Given the description of an element on the screen output the (x, y) to click on. 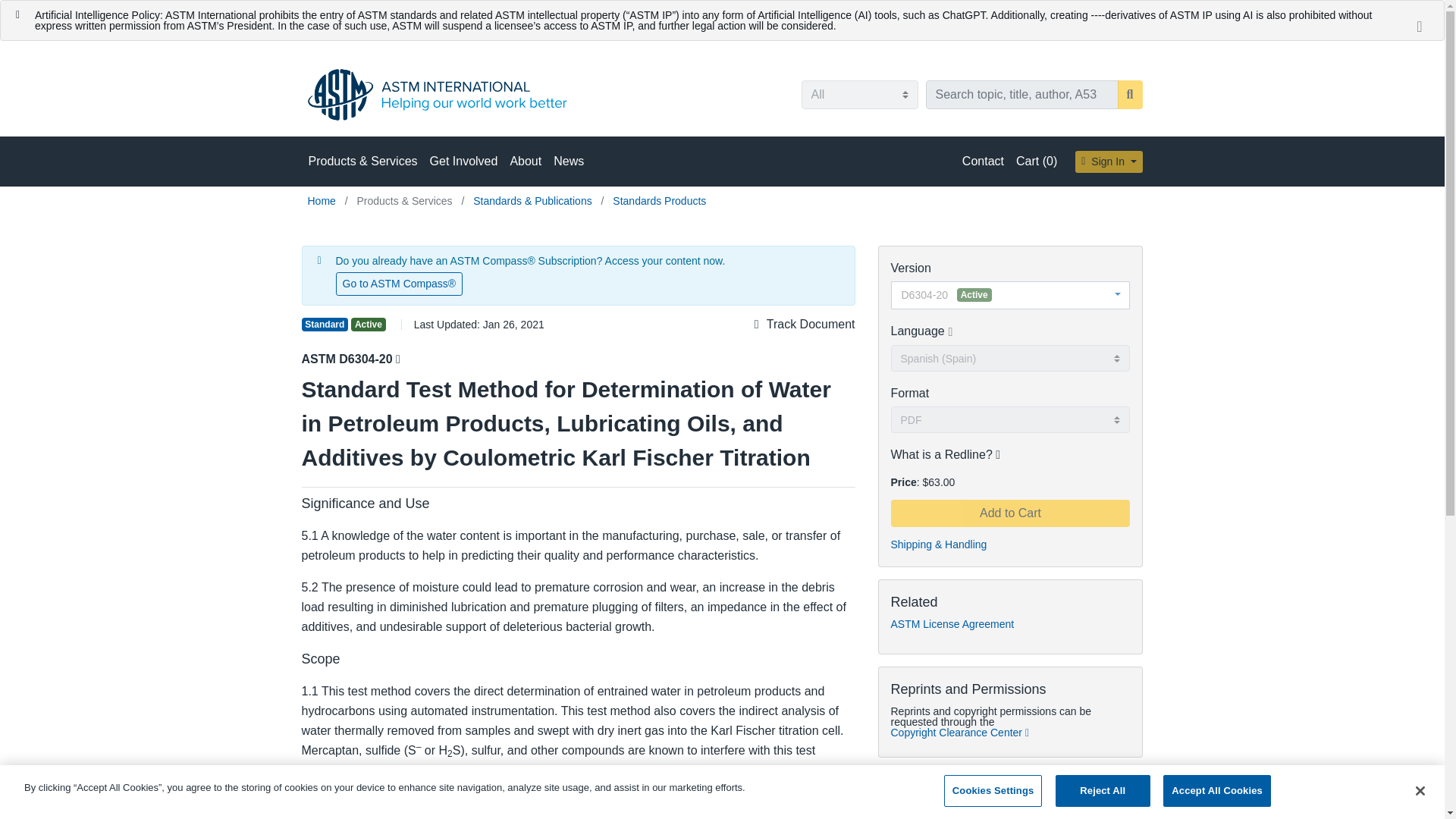
Go to Home Page (323, 200)
All (858, 94)
Add to Cart (1009, 513)
